Given the description of an element on the screen output the (x, y) to click on. 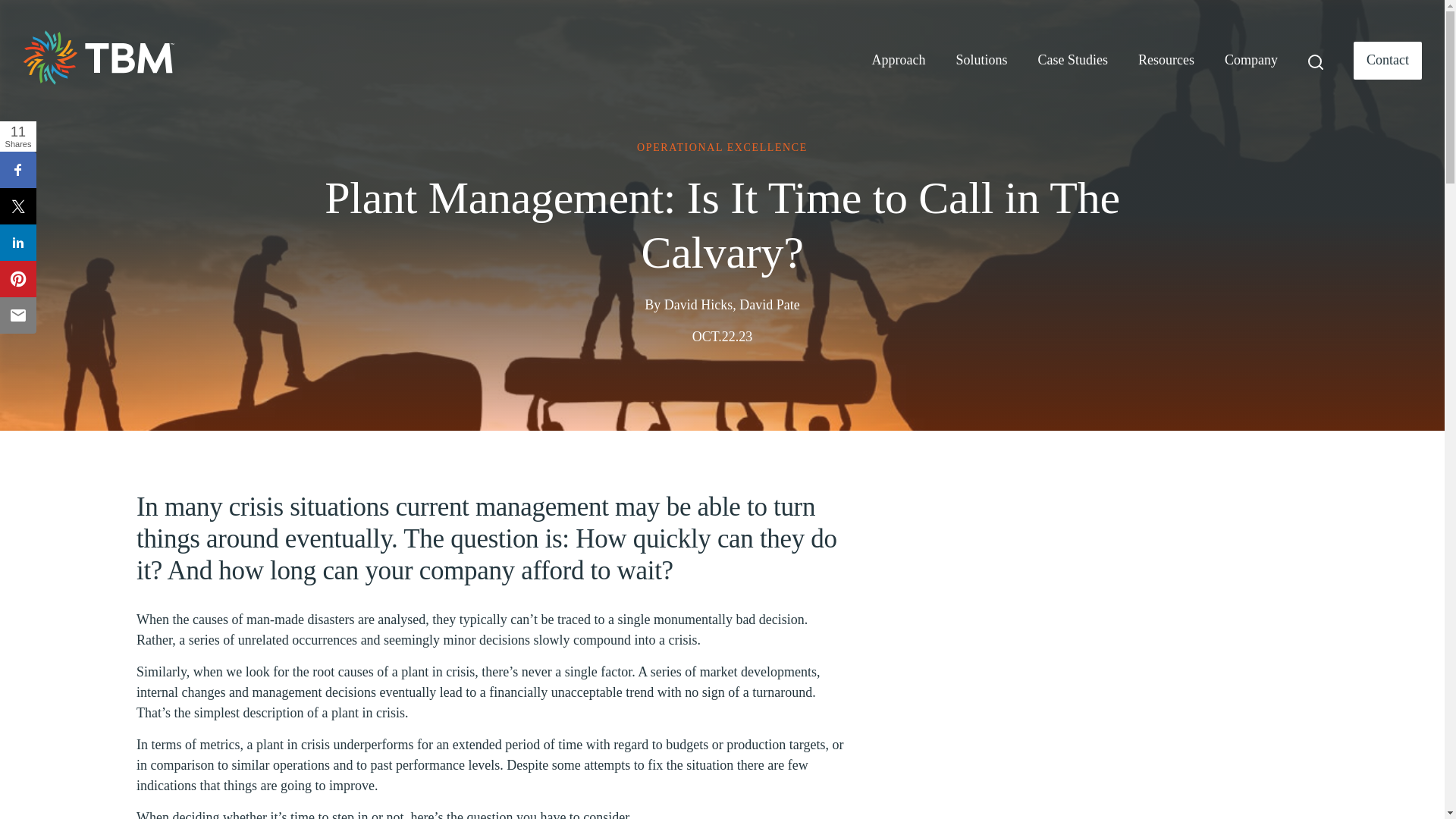
Approach (898, 60)
Solutions (981, 60)
